Given the description of an element on the screen output the (x, y) to click on. 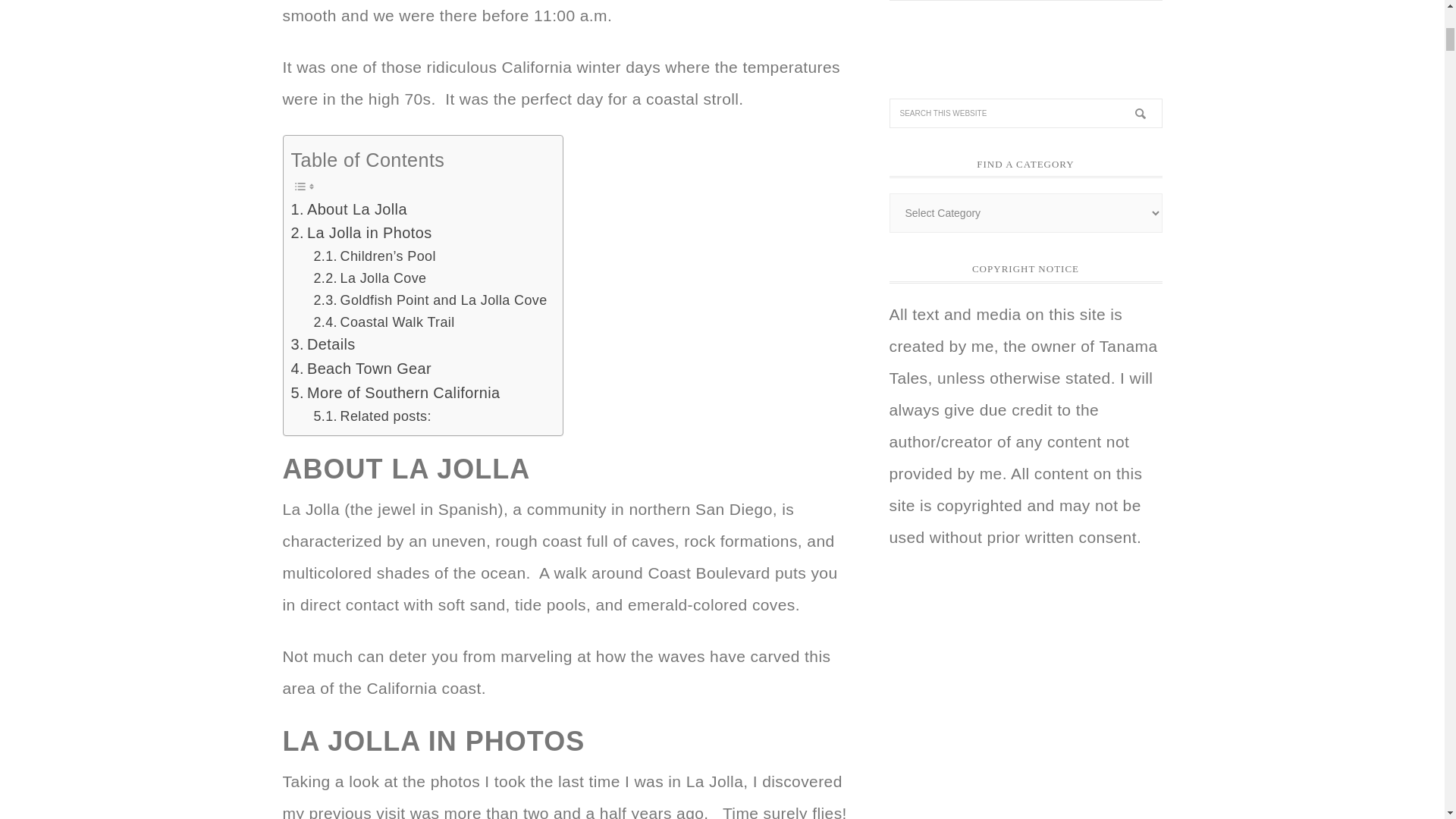
More of Southern California (395, 393)
Goldfish Point and La Jolla Cove (430, 300)
Coastal Walk Trail (383, 321)
More of Southern California (395, 393)
Related posts: (371, 416)
La Jolla Cove (369, 278)
Details (323, 344)
Coastal Walk Trail (383, 321)
Beach Town Gear (361, 369)
La Jolla in Photos (361, 233)
Beach Town Gear (361, 369)
Related posts: (371, 416)
About La Jolla (349, 209)
About La Jolla (349, 209)
